Given the description of an element on the screen output the (x, y) to click on. 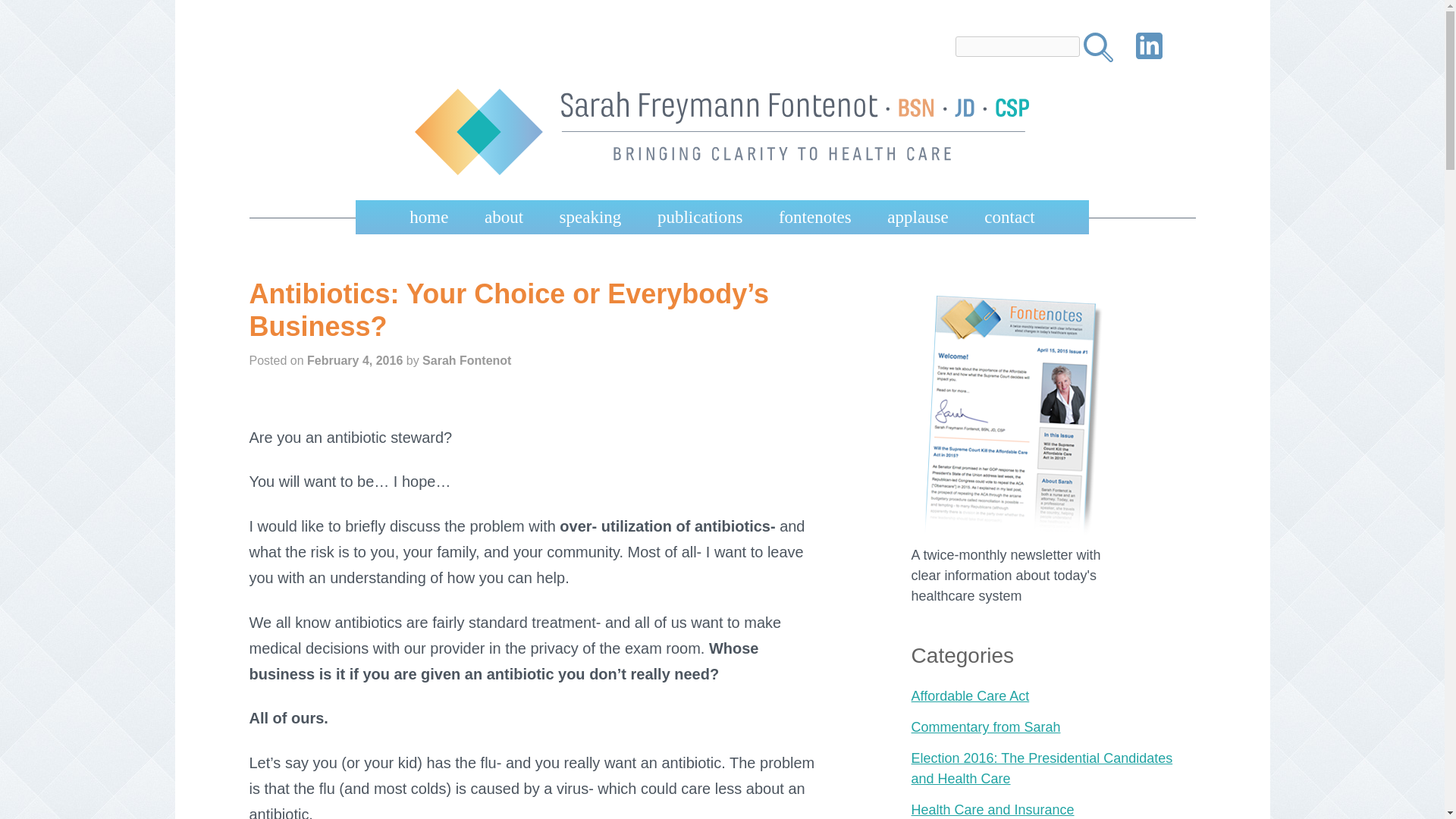
February 4, 2016 (355, 359)
Election 2016: The Presidential Candidates and Health Care (1042, 768)
applause (916, 216)
home (428, 216)
Sarah Fontenot (466, 359)
about (503, 216)
publications (700, 216)
Commentary from Sarah (986, 726)
meet sarah (536, 257)
fontenotes (814, 216)
contact (1008, 216)
8:02 am (355, 359)
View all posts by Sarah Fontenot (466, 359)
Health Care and Insurance (992, 809)
